Given the description of an element on the screen output the (x, y) to click on. 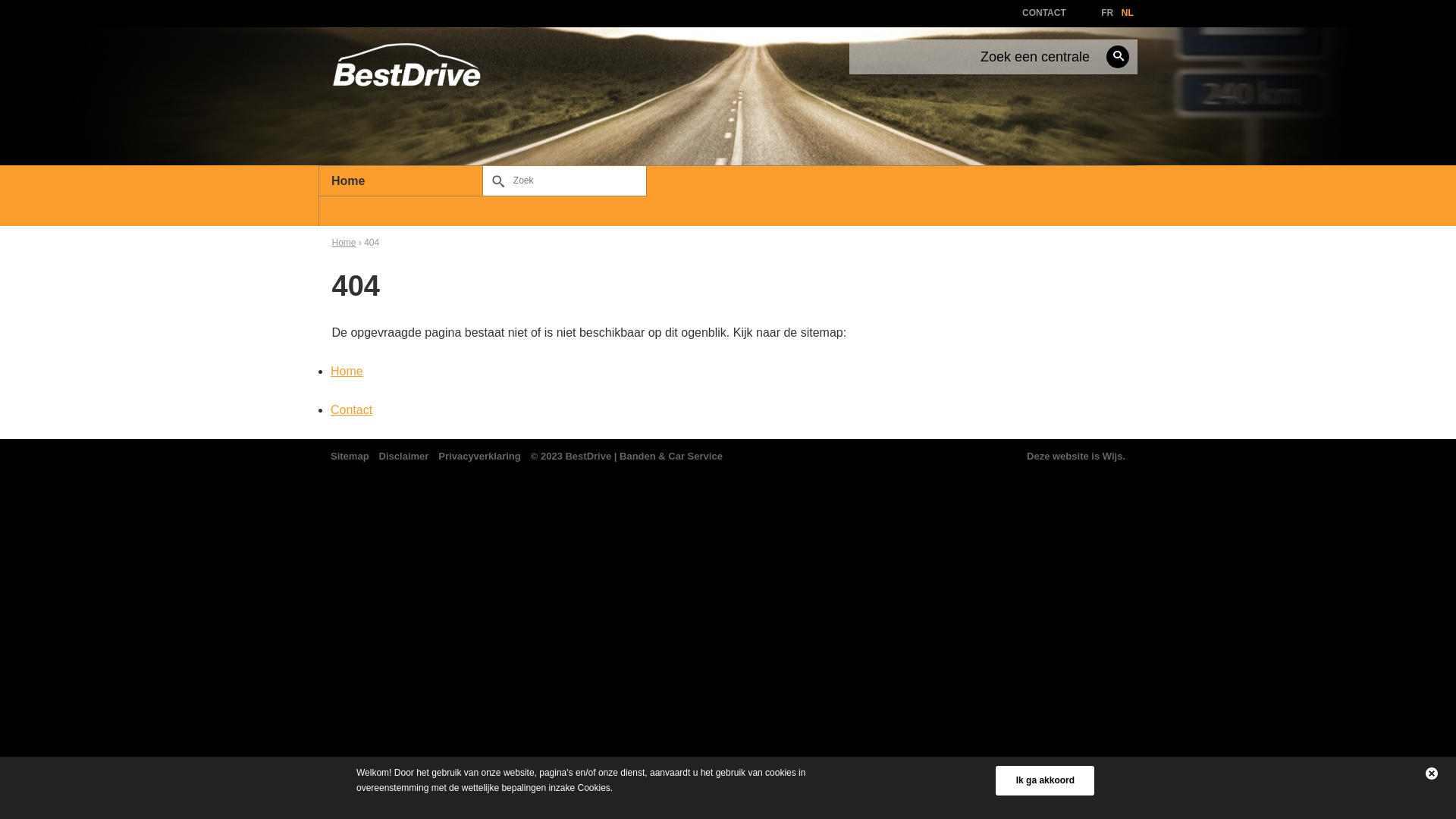
CONTACT Element type: text (1044, 12)
Ik ga akkoord Element type: text (1044, 779)
FR Element type: text (1107, 12)
Sitemap Element type: text (349, 456)
NL Element type: text (1127, 12)
Privacyverklaring Element type: text (479, 456)
Home Element type: text (400, 181)
Disclaimer Element type: text (404, 456)
Contact Element type: text (351, 409)
Home Element type: text (346, 370)
Wijs Element type: text (1112, 455)
Home Element type: text (344, 242)
